Given the description of an element on the screen output the (x, y) to click on. 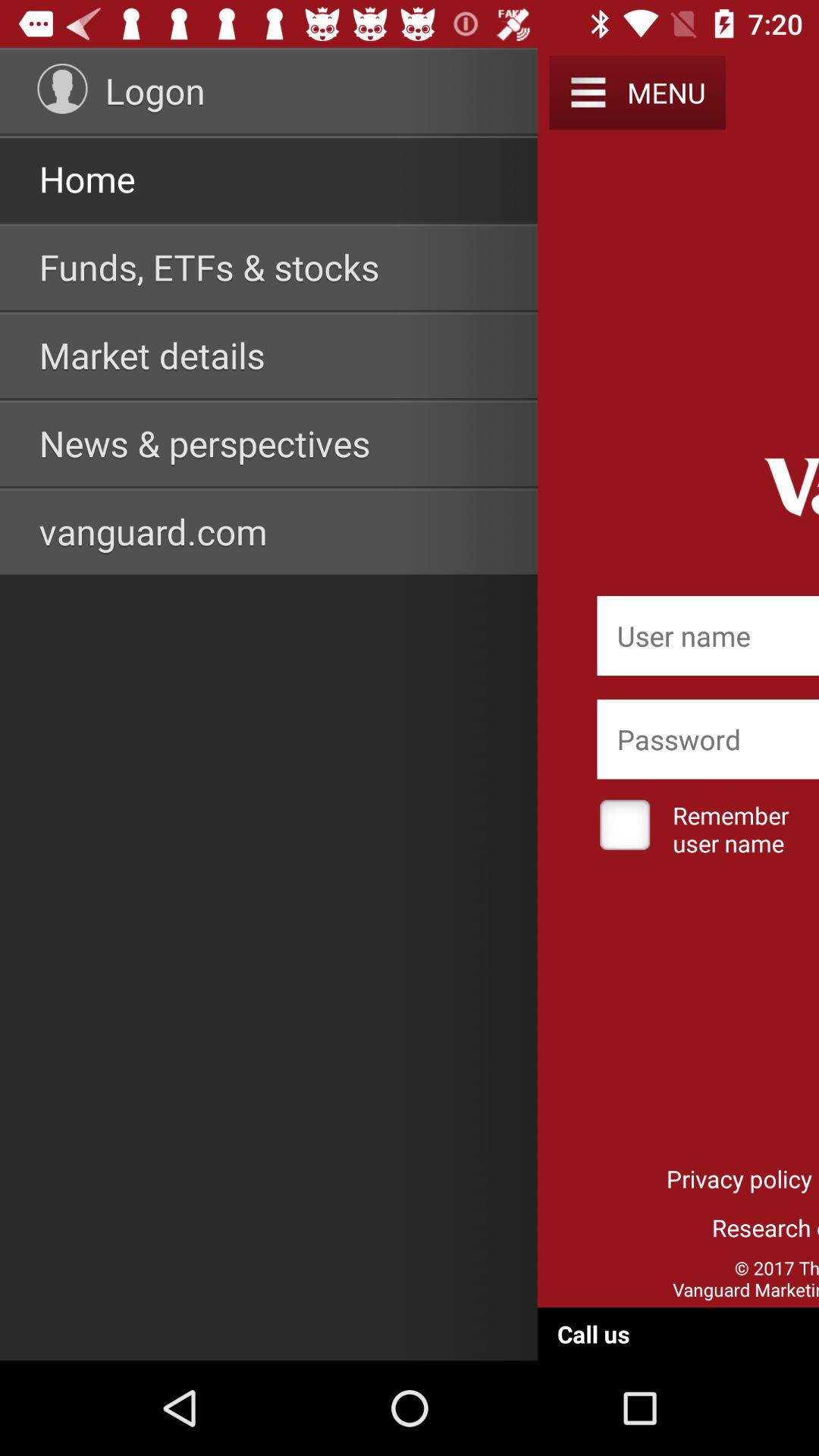
enter user name (708, 635)
